Given the description of an element on the screen output the (x, y) to click on. 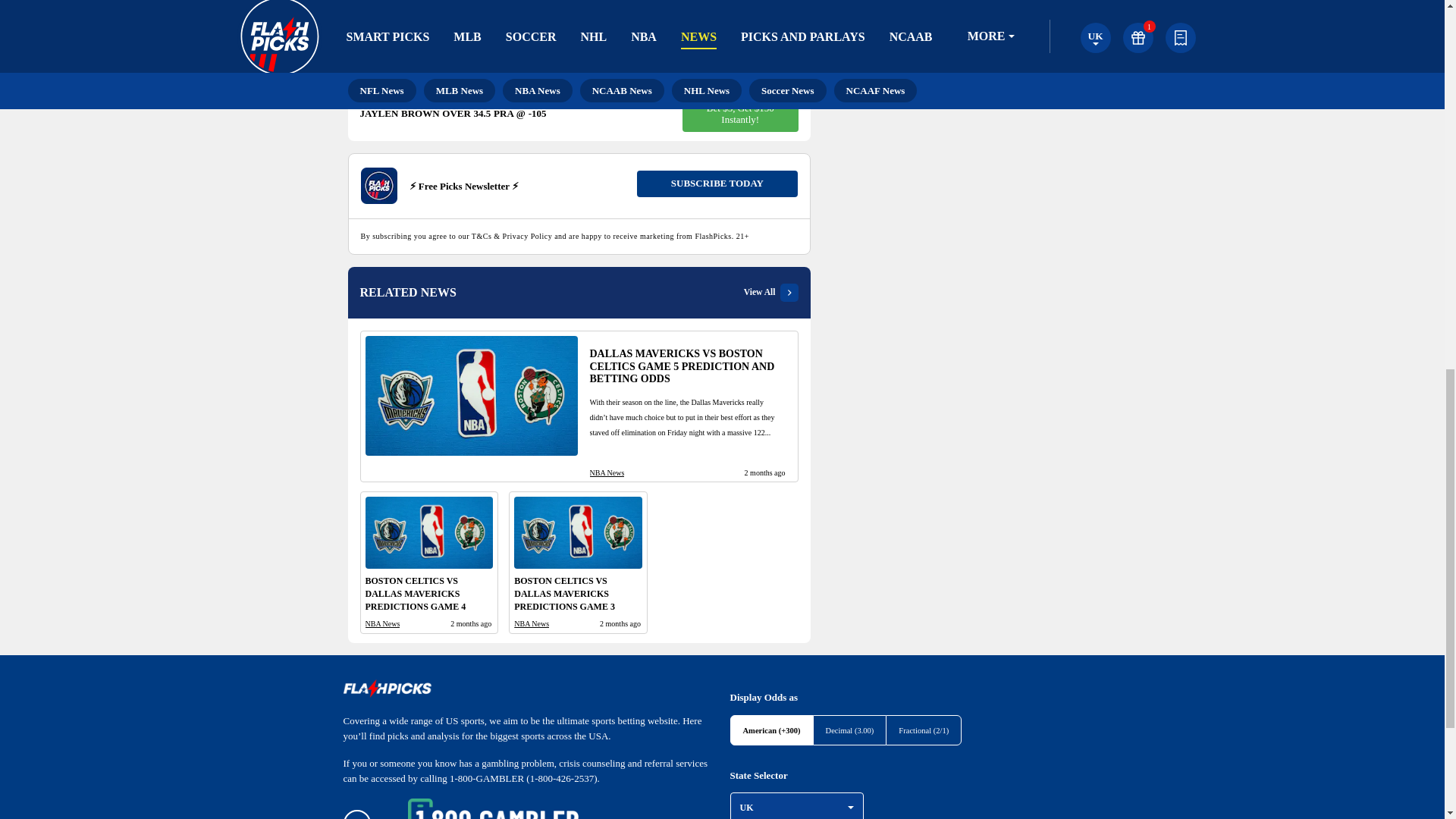
Gambling problem helpline (493, 808)
SUBSCRIBE TODAY (716, 183)
View All (770, 292)
YouTube Logo (927, 4)
